Given the description of an element on the screen output the (x, y) to click on. 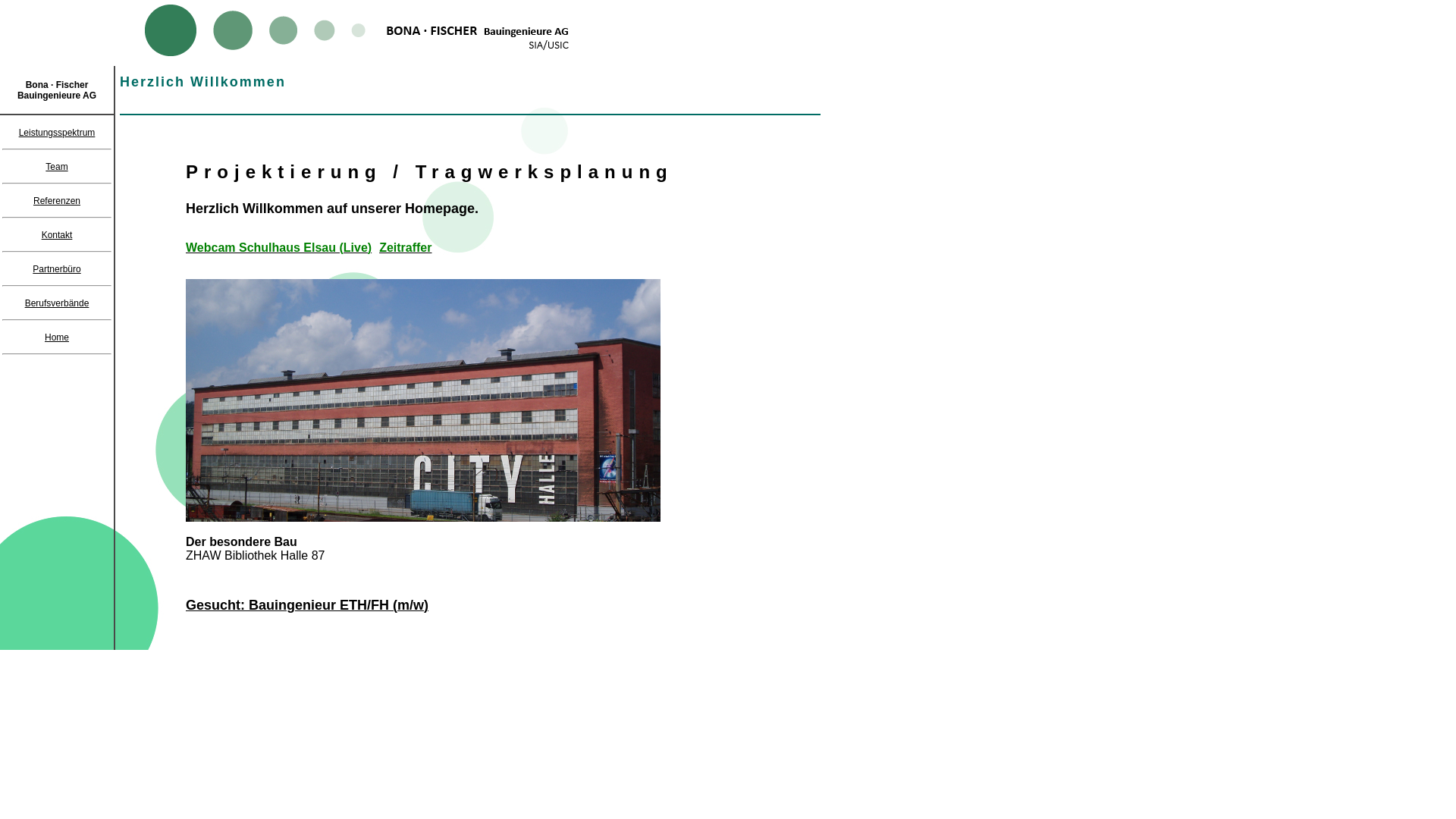
Gesucht: Bauingenieur ETH/FH (m/w) Element type: text (306, 606)
Zeitraffer Element type: text (405, 248)
Referenzen Element type: text (56, 200)
Webcam Schulhaus Elsau (Live) Element type: text (278, 248)
Home Element type: text (56, 337)
Leistungsspektrum Element type: text (56, 132)
Team Element type: text (56, 165)
Kontakt Element type: text (56, 234)
